Given the description of an element on the screen output the (x, y) to click on. 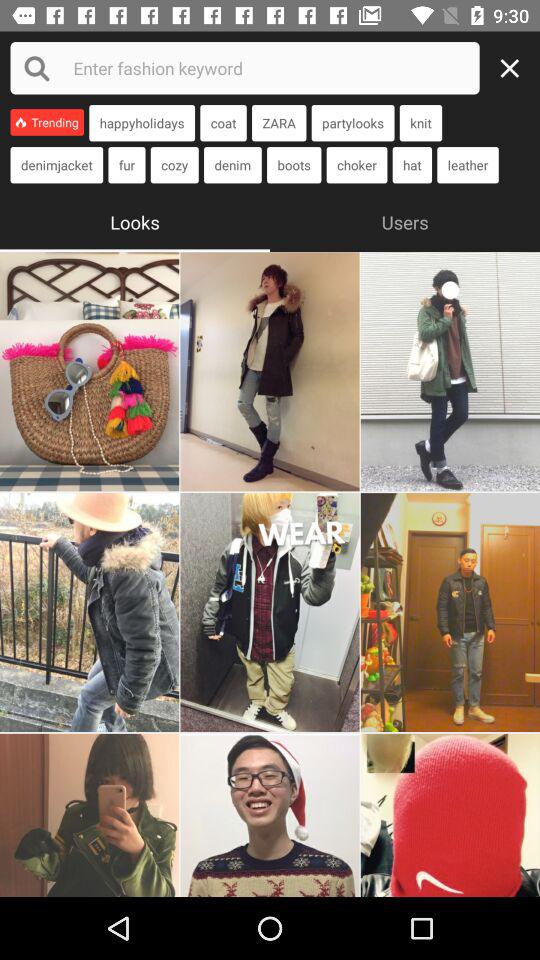
enter fashion keyword (244, 68)
